Given the description of an element on the screen output the (x, y) to click on. 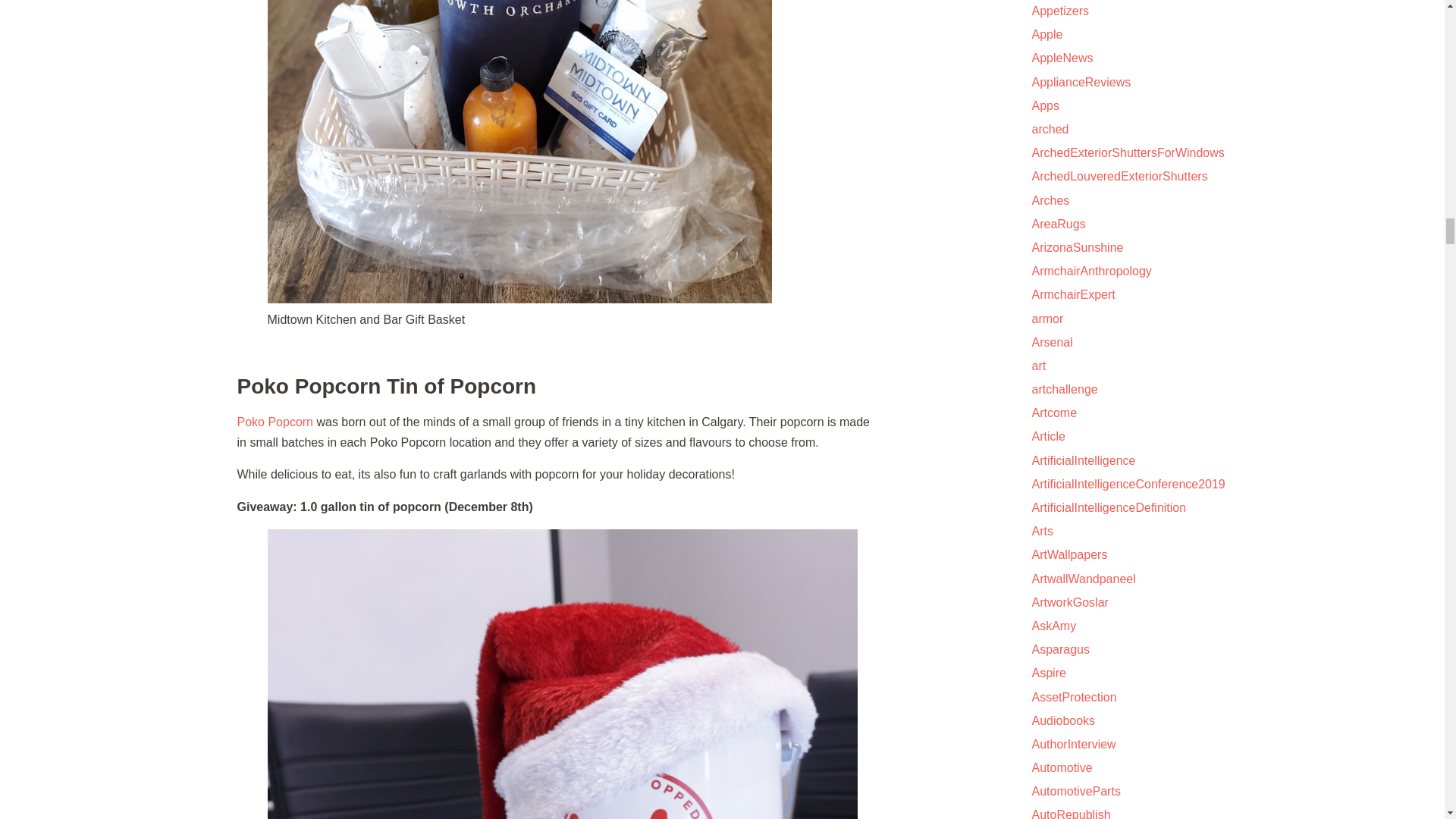
Poko Popcorn (274, 421)
